Given the description of an element on the screen output the (x, y) to click on. 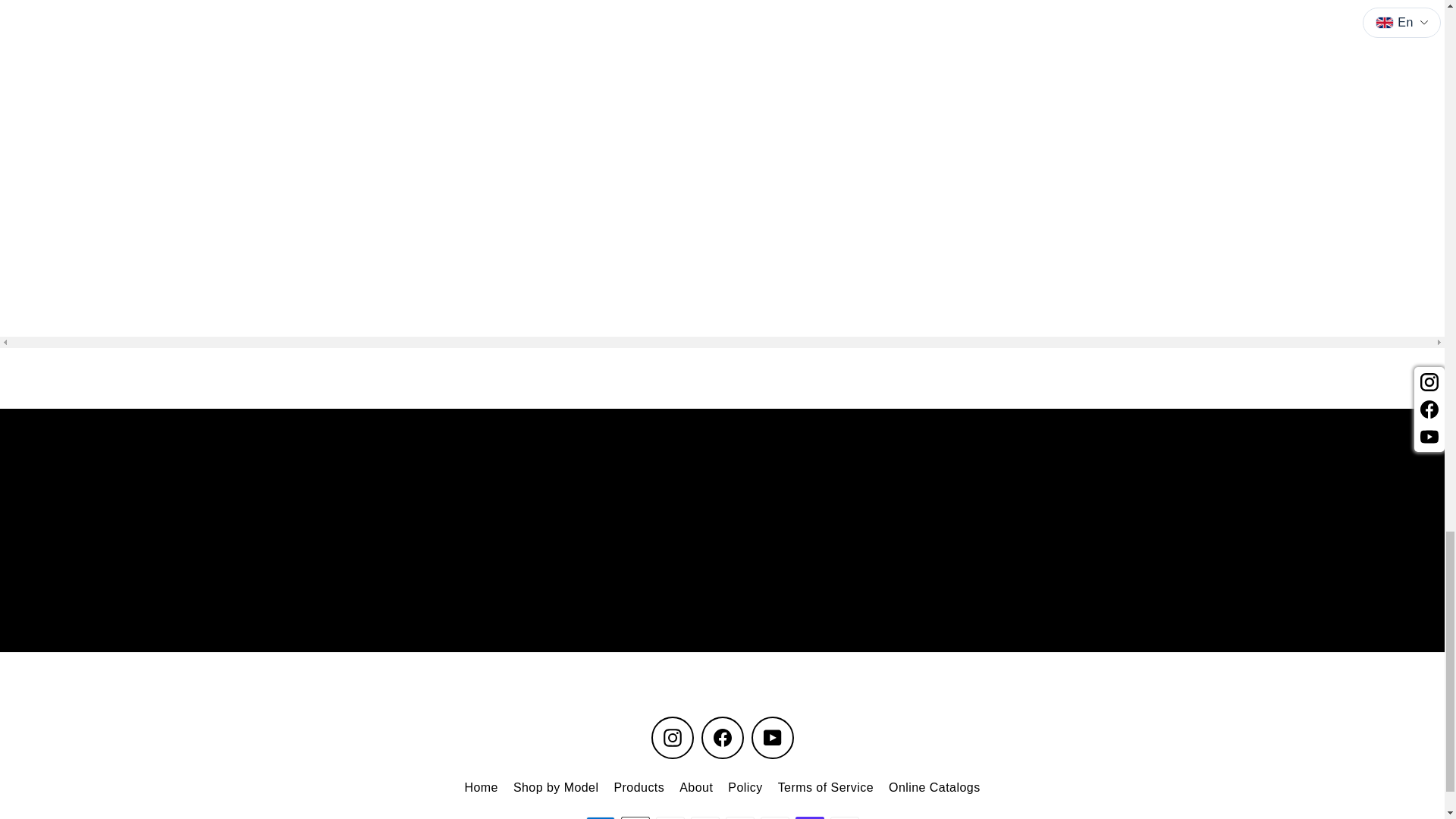
Google Pay (669, 817)
Mastercard (739, 817)
American Express (599, 817)
Shop Pay (809, 817)
PayPal (774, 817)
Apple Pay (634, 817)
JCB (704, 817)
